Given the description of an element on the screen output the (x, y) to click on. 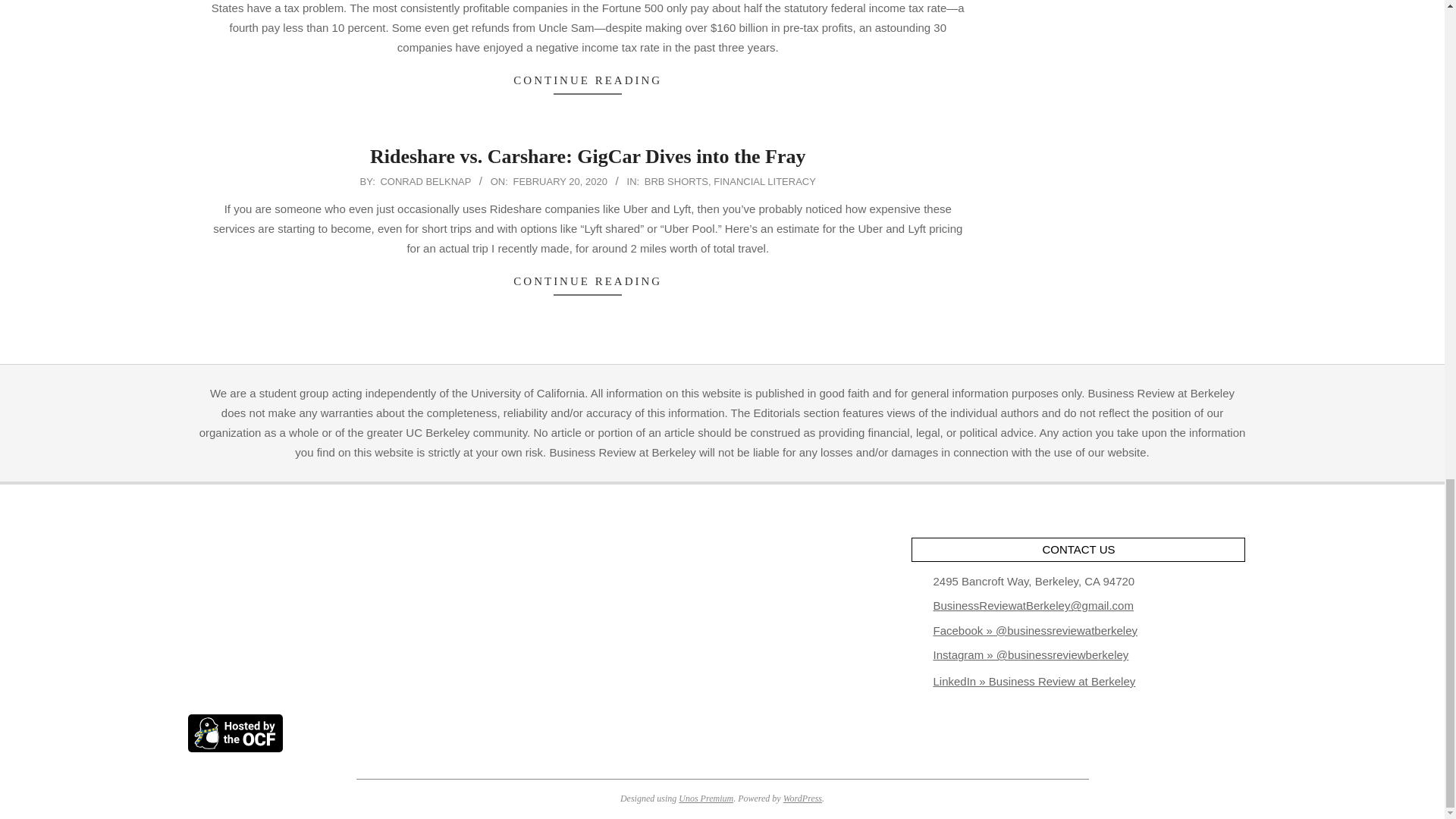
CONTINUE READING (587, 80)
Posts by Conrad Belknap (425, 181)
Rideshare vs. Carshare: GigCar Dives into the Fray (587, 156)
FINANCIAL LITERACY (764, 181)
Thursday, February 20, 2020, 11:22 pm (559, 181)
CONTINUE READING (587, 282)
BRB SHORTS (676, 181)
CONRAD BELKNAP (425, 181)
Unos Premium WordPress Theme (705, 798)
